Given the description of an element on the screen output the (x, y) to click on. 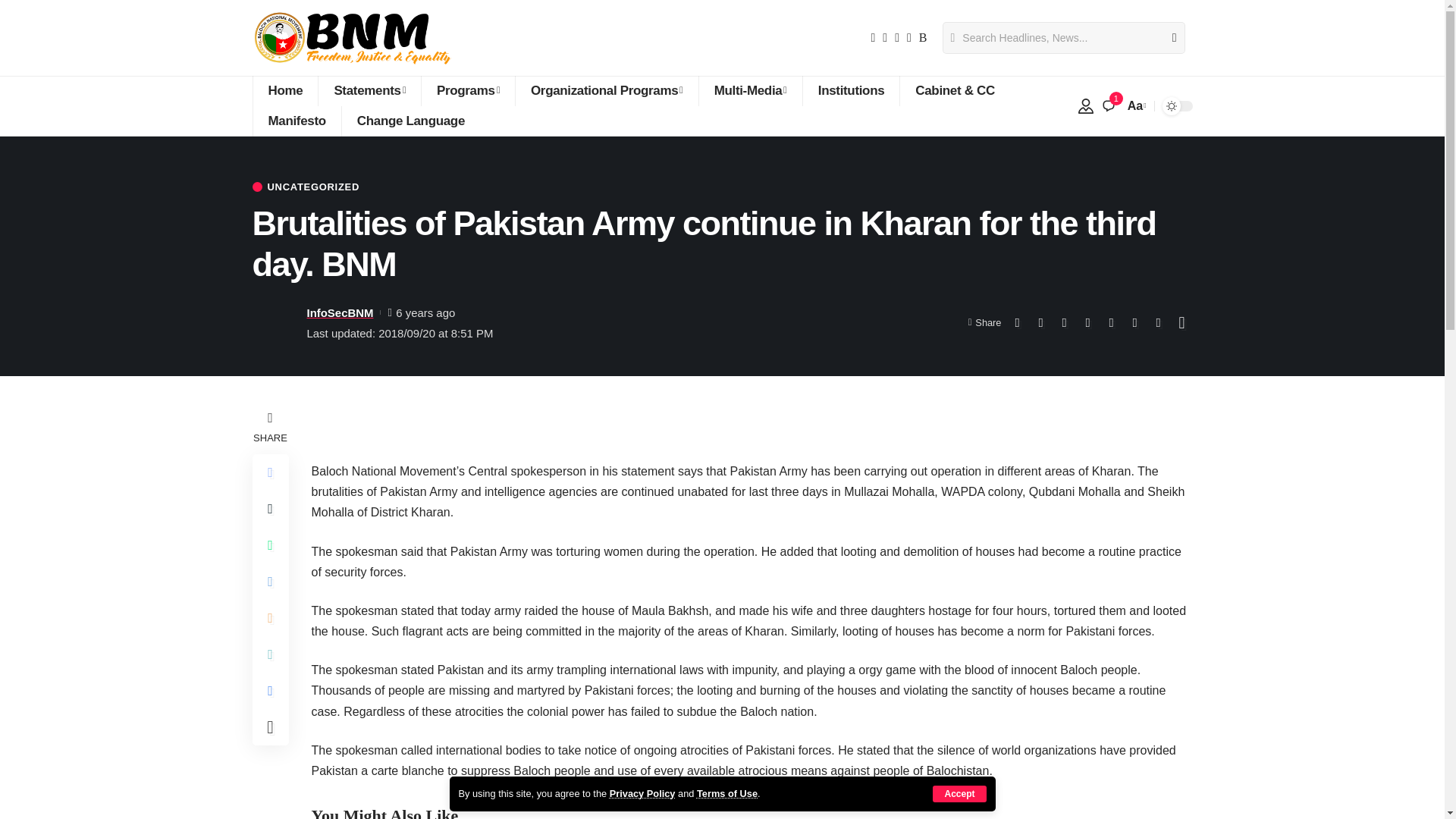
Change Language (410, 121)
Privacy Policy (642, 793)
Statements (368, 91)
Baloch National Movement (353, 37)
Search (1168, 37)
Home (284, 91)
Manifesto (295, 121)
Programs (467, 91)
Organizational Programs (606, 91)
Multi-Media (750, 91)
Institutions (850, 91)
Accept (959, 793)
Terms of Use (727, 793)
